Given the description of an element on the screen output the (x, y) to click on. 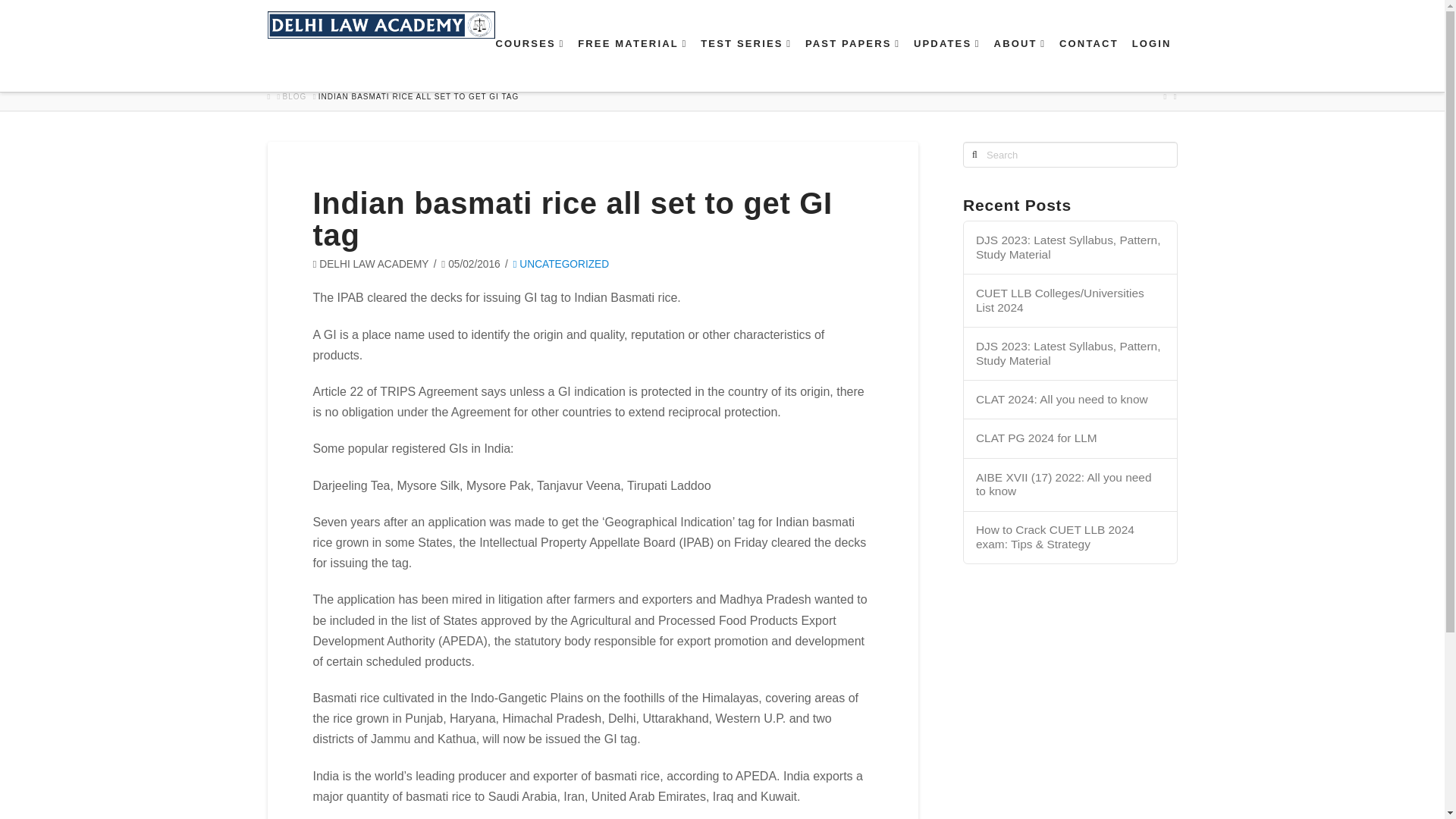
UPDATES (946, 64)
COURSES (528, 64)
TEST SERIES (745, 64)
Online Courses for Law Entrance Exams (528, 64)
You Are Here (418, 96)
PAST PAPERS (851, 64)
ABOUT (1019, 64)
Online Mock Test Series (745, 64)
FREE MATERIAL (631, 64)
